Given the description of an element on the screen output the (x, y) to click on. 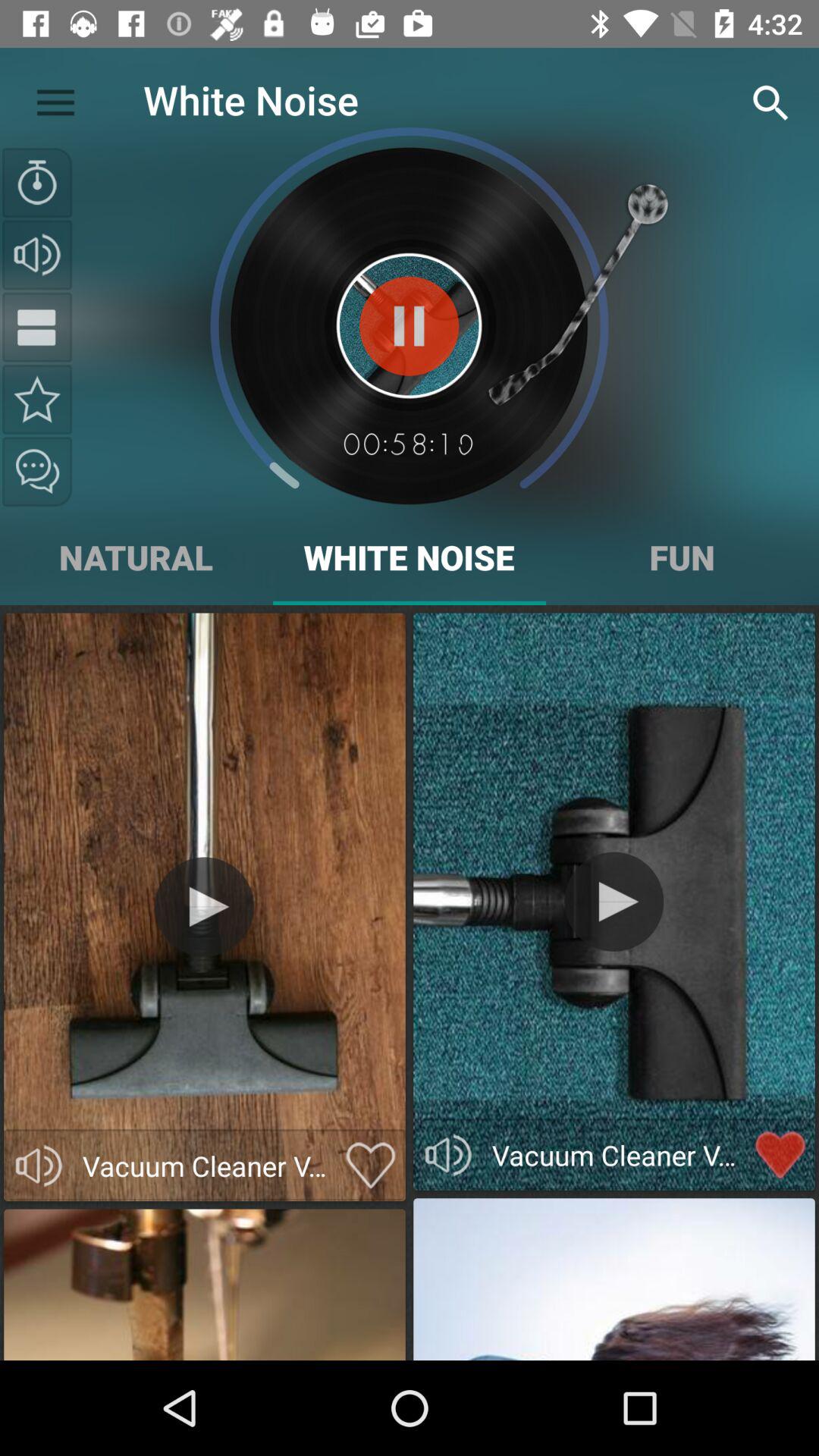
turn sound on/off (448, 1155)
